Given the description of an element on the screen output the (x, y) to click on. 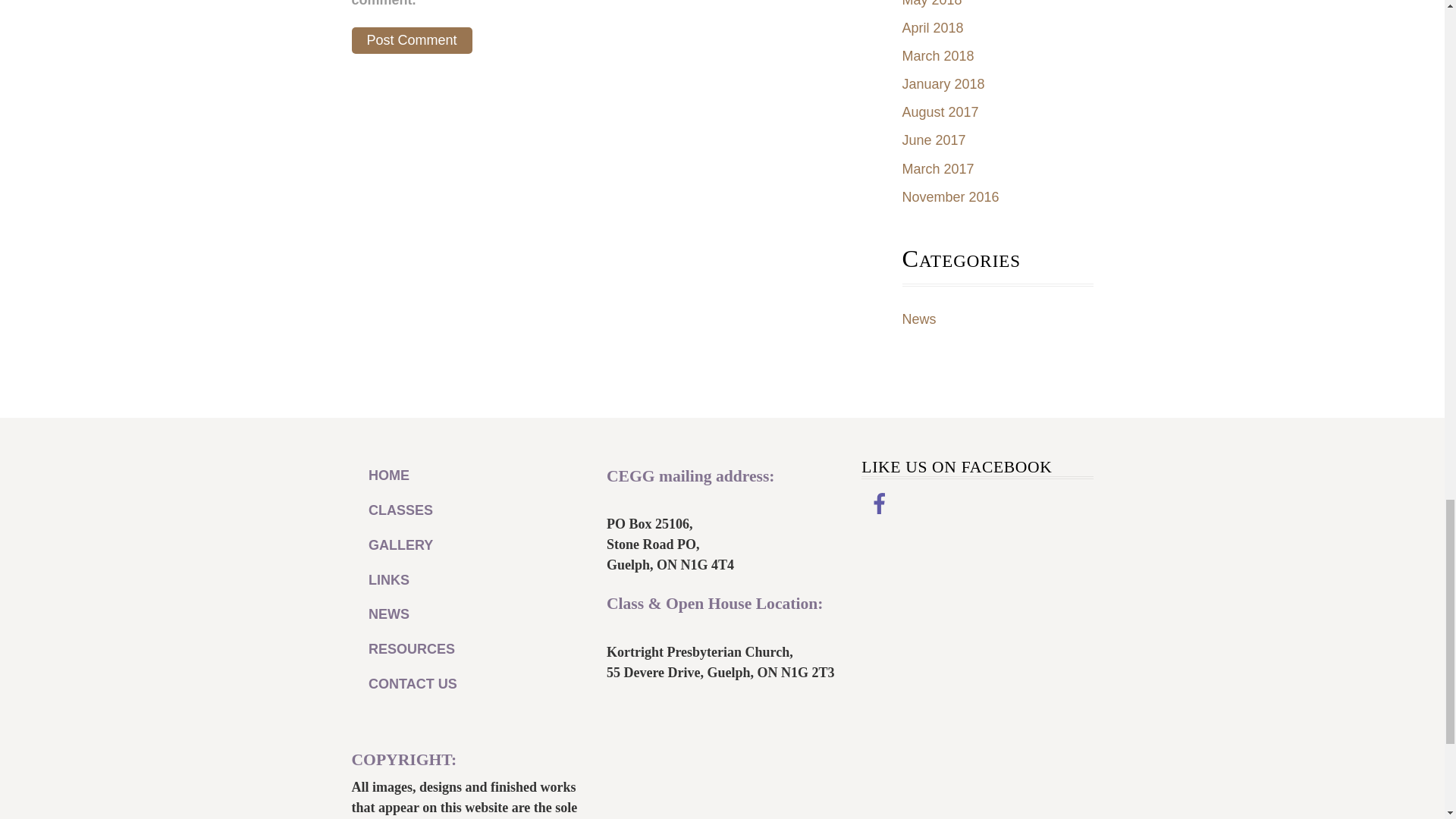
Post Comment (411, 40)
Post Comment (411, 40)
